Given the description of an element on the screen output the (x, y) to click on. 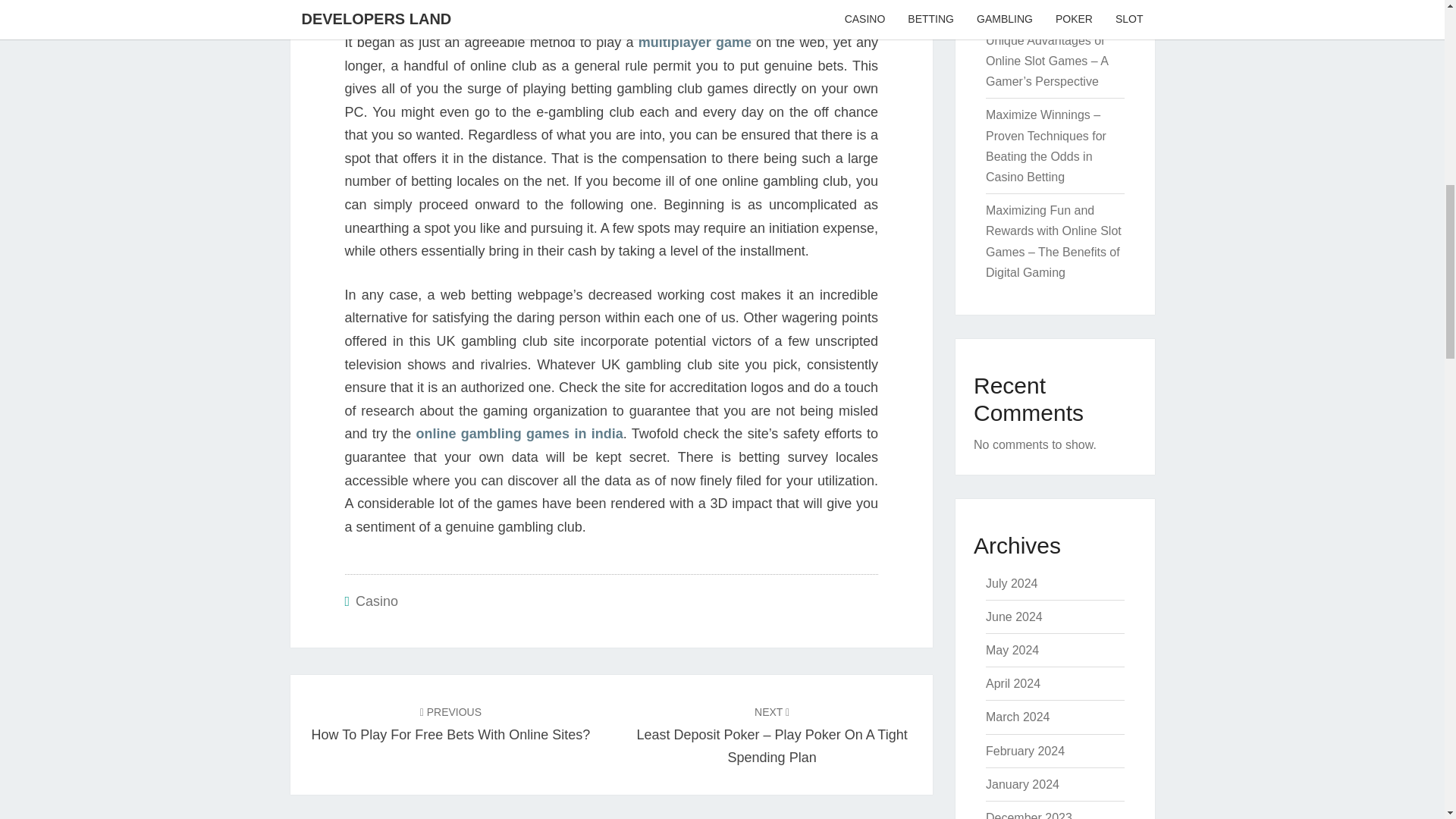
online gambling games in india (518, 433)
May 2024 (1012, 649)
March 2024 (1017, 716)
January 2024 (450, 722)
April 2024 (1022, 784)
December 2023 (1013, 683)
June 2024 (1028, 815)
Casino (1013, 616)
July 2024 (376, 601)
